Given the description of an element on the screen output the (x, y) to click on. 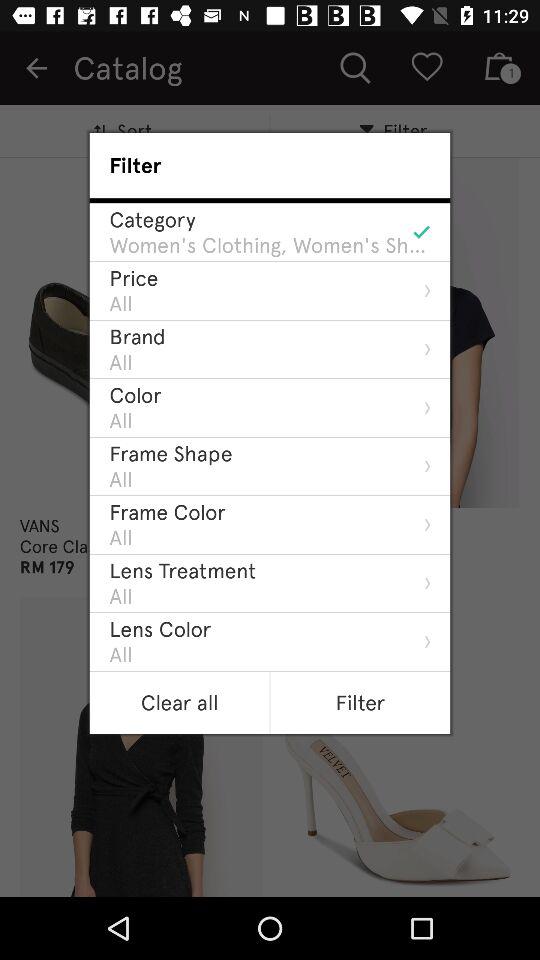
swipe to the frame shape (170, 453)
